Given the description of an element on the screen output the (x, y) to click on. 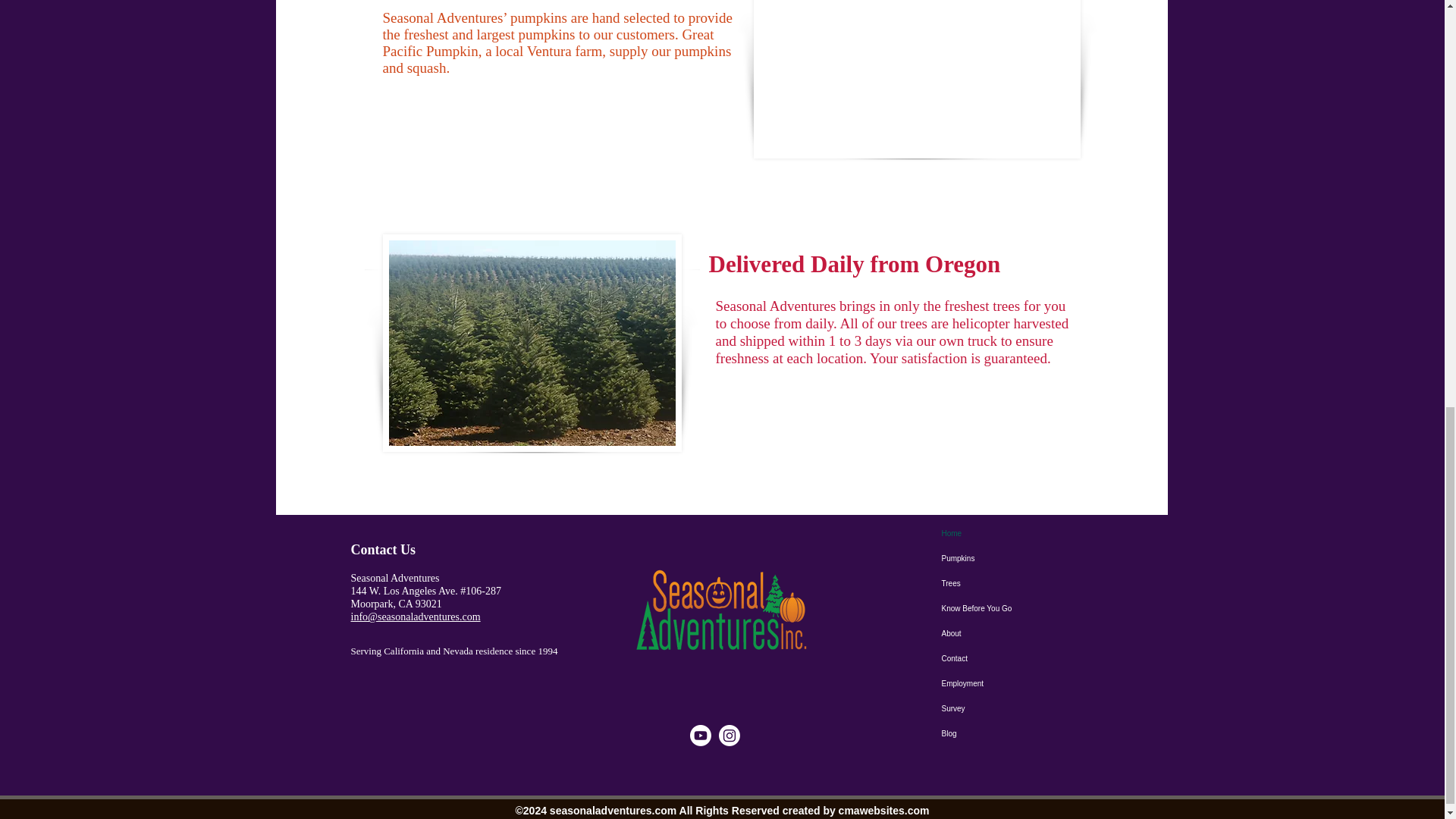
Trees (1018, 583)
Know Before You Go (1018, 608)
About (1018, 633)
Survey (1018, 708)
Home (1018, 533)
Pumpkins (1018, 558)
Blog (1018, 733)
Contact (1018, 658)
Employment (1018, 683)
